Given the description of an element on the screen output the (x, y) to click on. 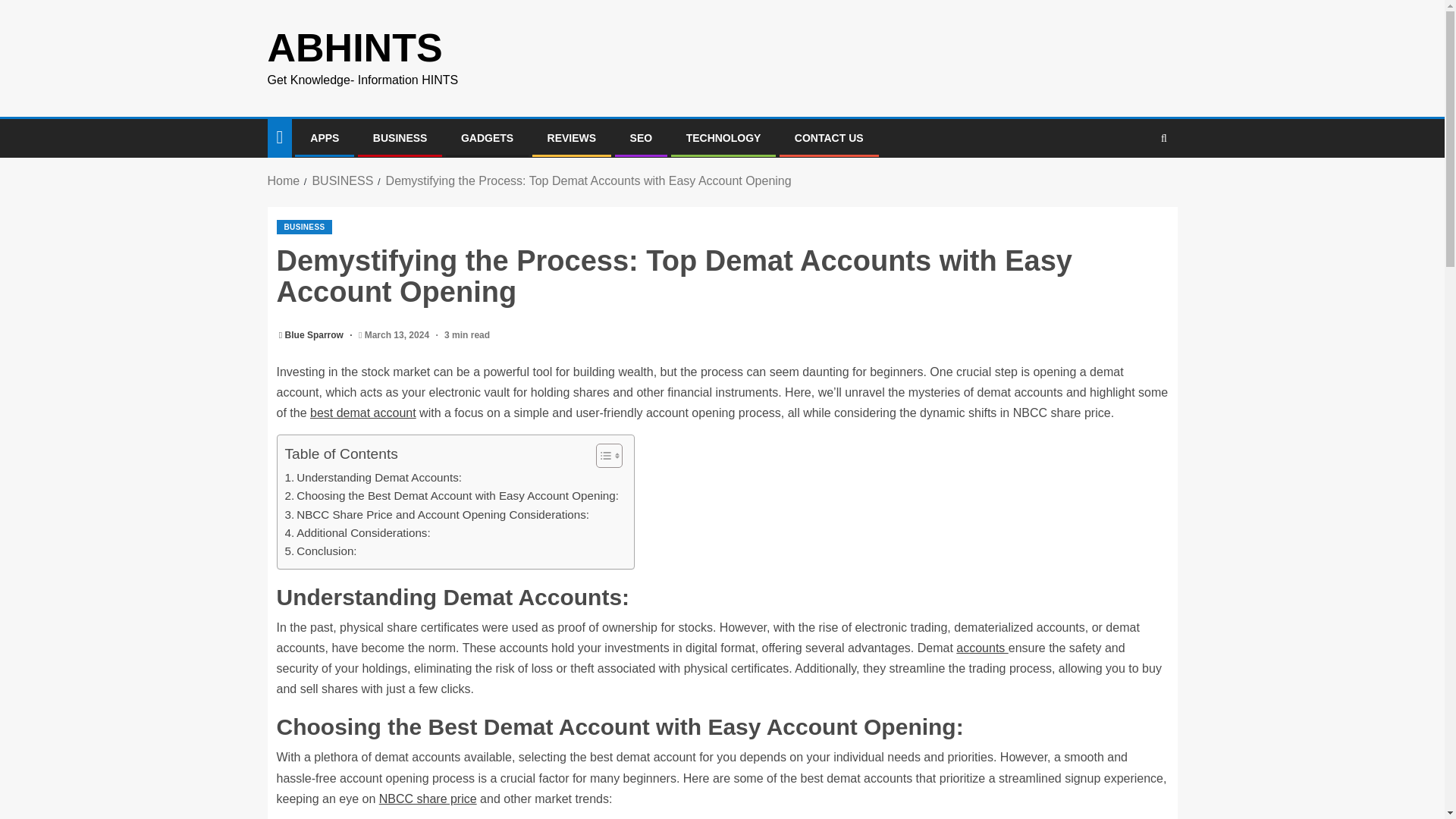
Choosing the Best Demat Account with Easy Account Opening: (451, 495)
Home (282, 180)
REVIEWS (571, 137)
Choosing the Best Demat Account with Easy Account Opening: (451, 495)
NBCC Share Price and Account Opening Considerations: (437, 515)
Blue Sparrow (315, 335)
Additional Considerations: (357, 533)
NBCC share price (427, 798)
Understanding Demat Accounts: (374, 477)
Additional Considerations: (357, 533)
